Given the description of an element on the screen output the (x, y) to click on. 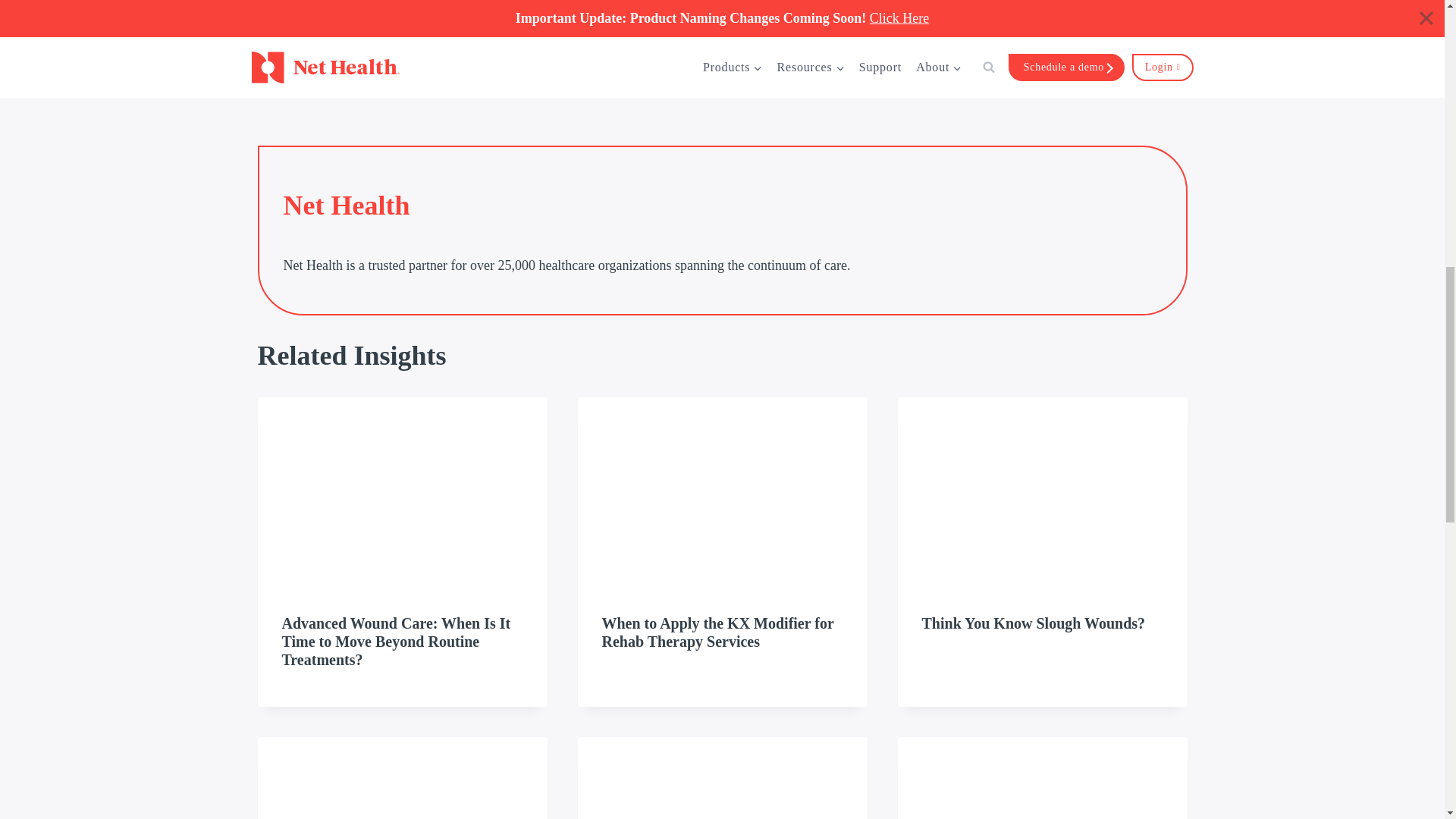
Submit (721, 18)
